Given the description of an element on the screen output the (x, y) to click on. 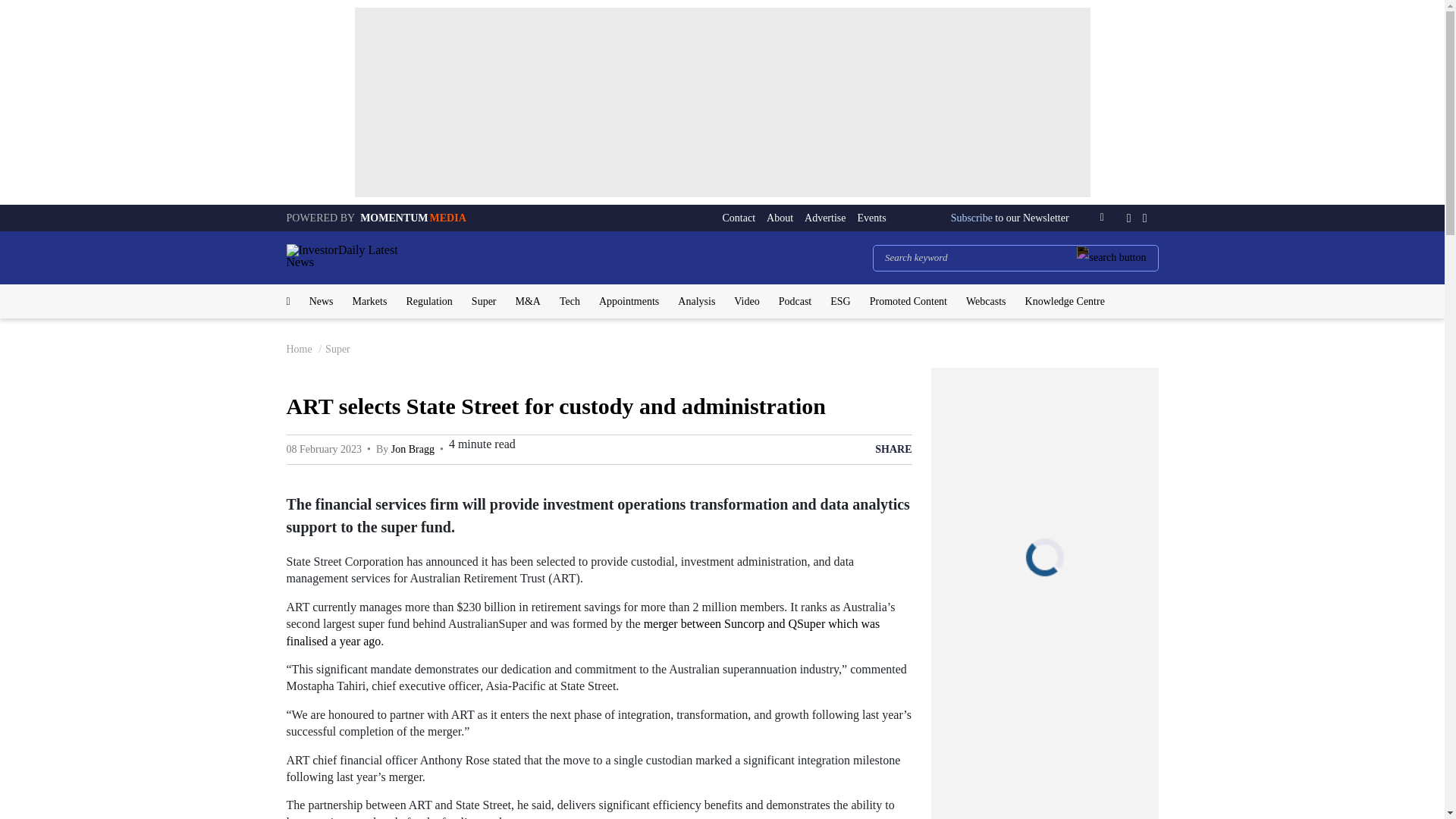
Advertise (825, 217)
Contact (738, 217)
About (780, 217)
POWERED BY MOMENTUM MEDIA (375, 216)
